Given the description of an element on the screen output the (x, y) to click on. 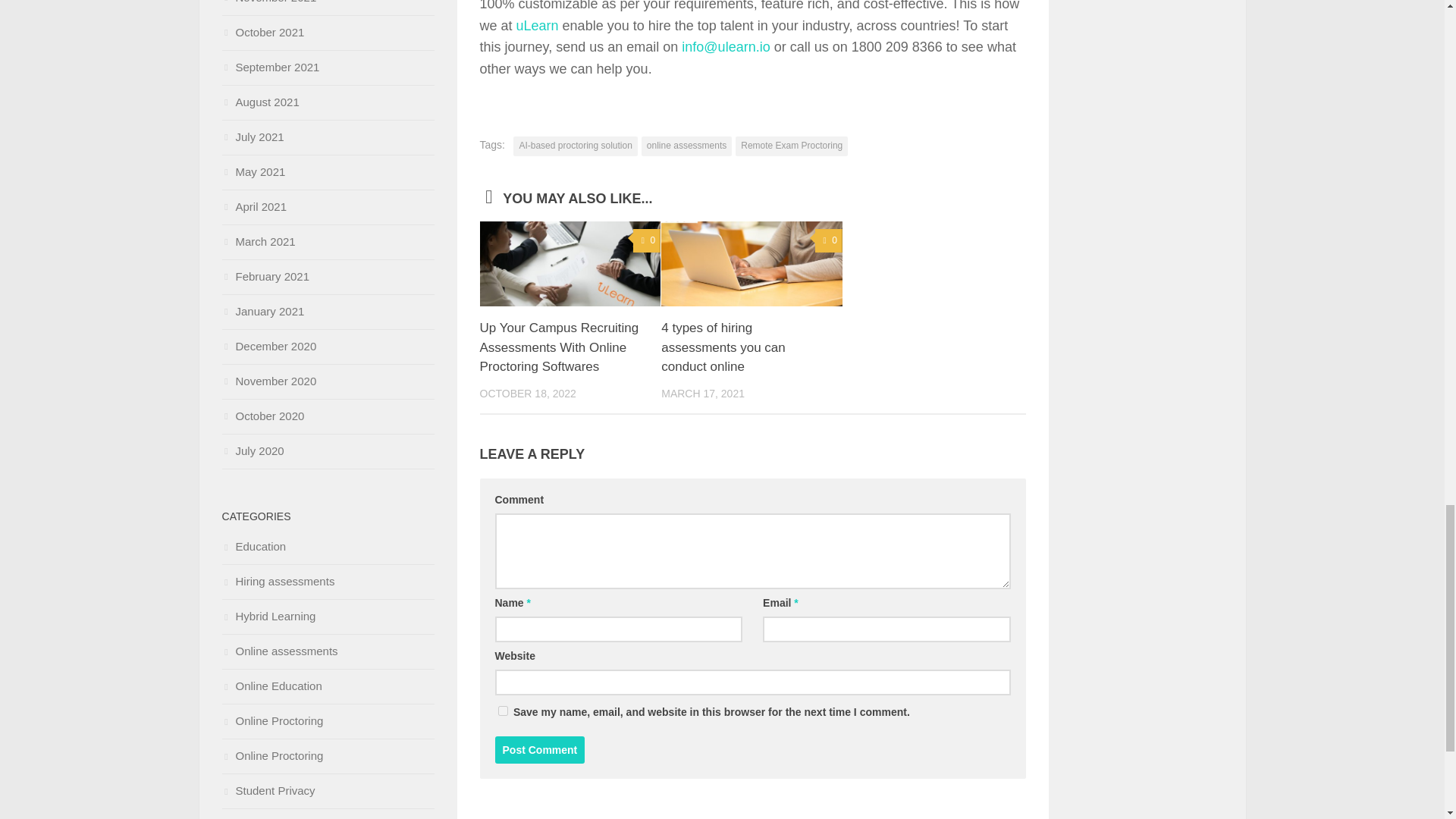
yes (501, 710)
0 (829, 240)
uLearn (537, 25)
Remote Exam Proctoring (791, 146)
4 types of hiring assessments you can conduct online (722, 347)
AI-based proctoring solution (575, 146)
online assessments (687, 146)
